Given the description of an element on the screen output the (x, y) to click on. 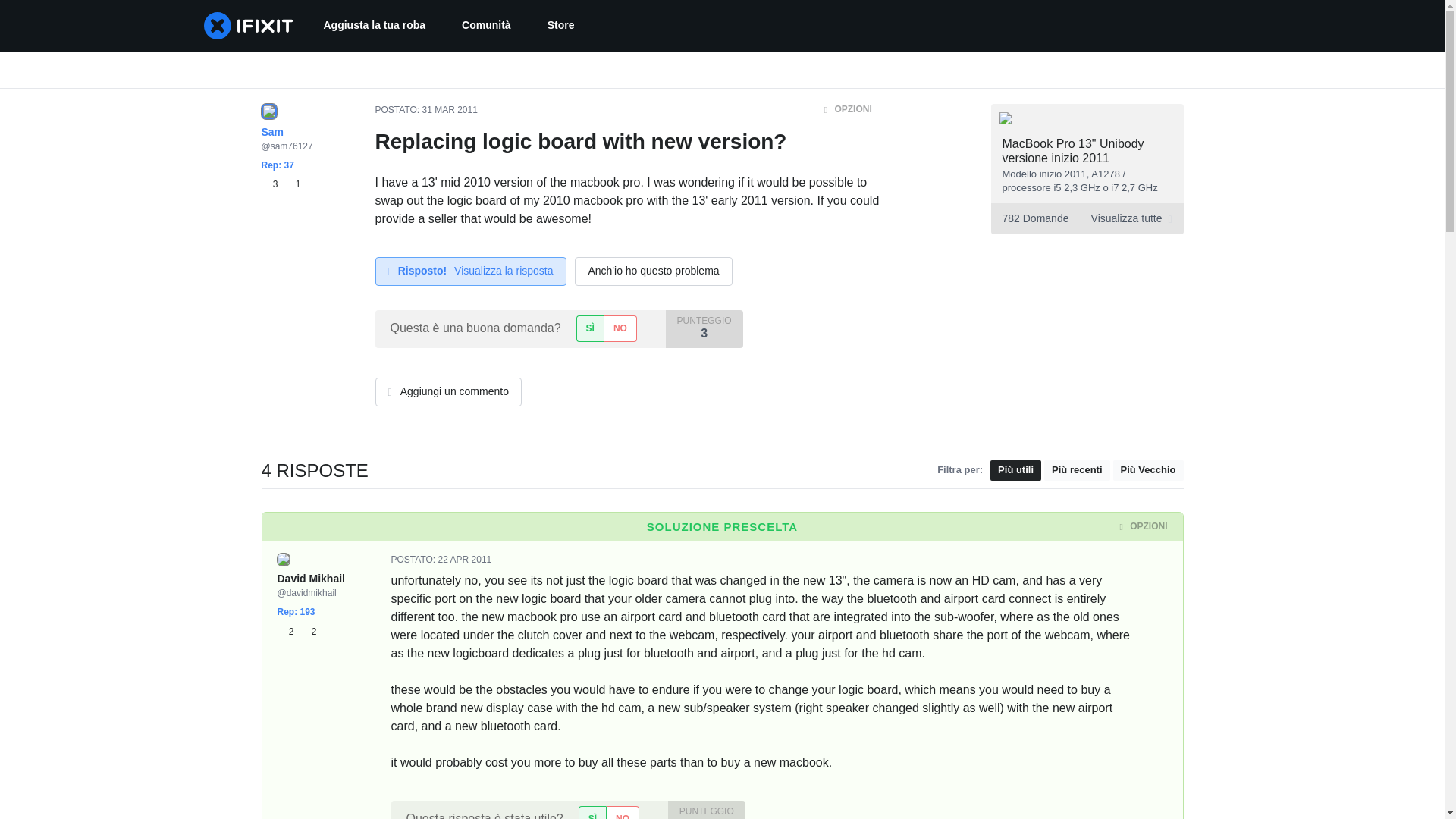
Store (1086, 218)
2 2 (560, 25)
Aggiusta la tua roba (297, 631)
2 Argento distintivi (374, 25)
Risposto! Visualizza la risposta (308, 631)
NO (470, 271)
NO (620, 328)
MacBook Pro 13" Unibody versione inizio 2011 (622, 812)
POSTATO: 22 APR 2011 (1073, 150)
2 Bronzo distintivi (441, 559)
POSTATO: 31 MAR 2011 (288, 631)
Anch'io ho questo problema (425, 109)
Fri, 22 Apr 2011 17:47:36 -0700 (653, 271)
3 Bronzo distintivi (465, 559)
